Given the description of an element on the screen output the (x, y) to click on. 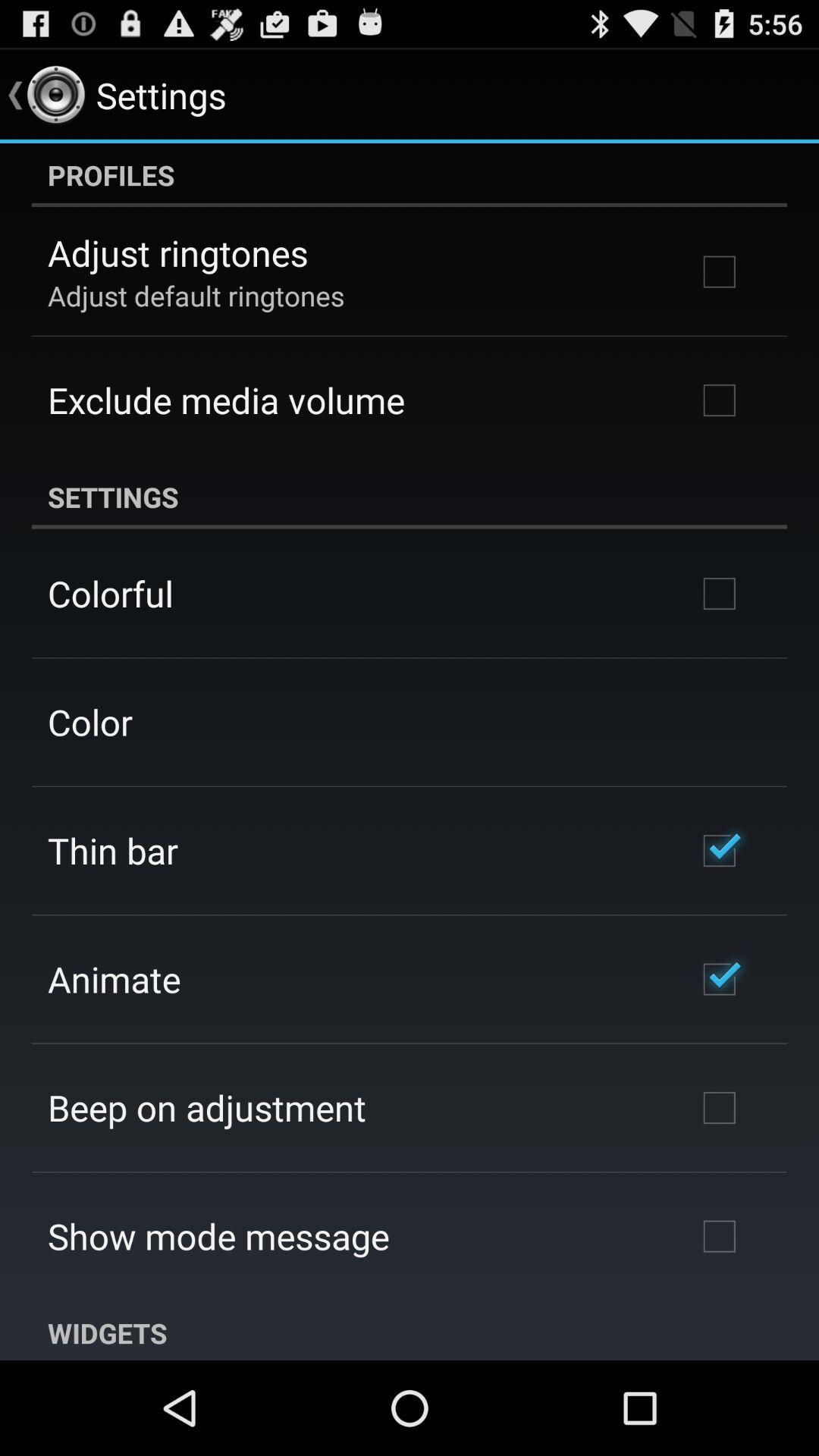
open the color app (89, 721)
